Given the description of an element on the screen output the (x, y) to click on. 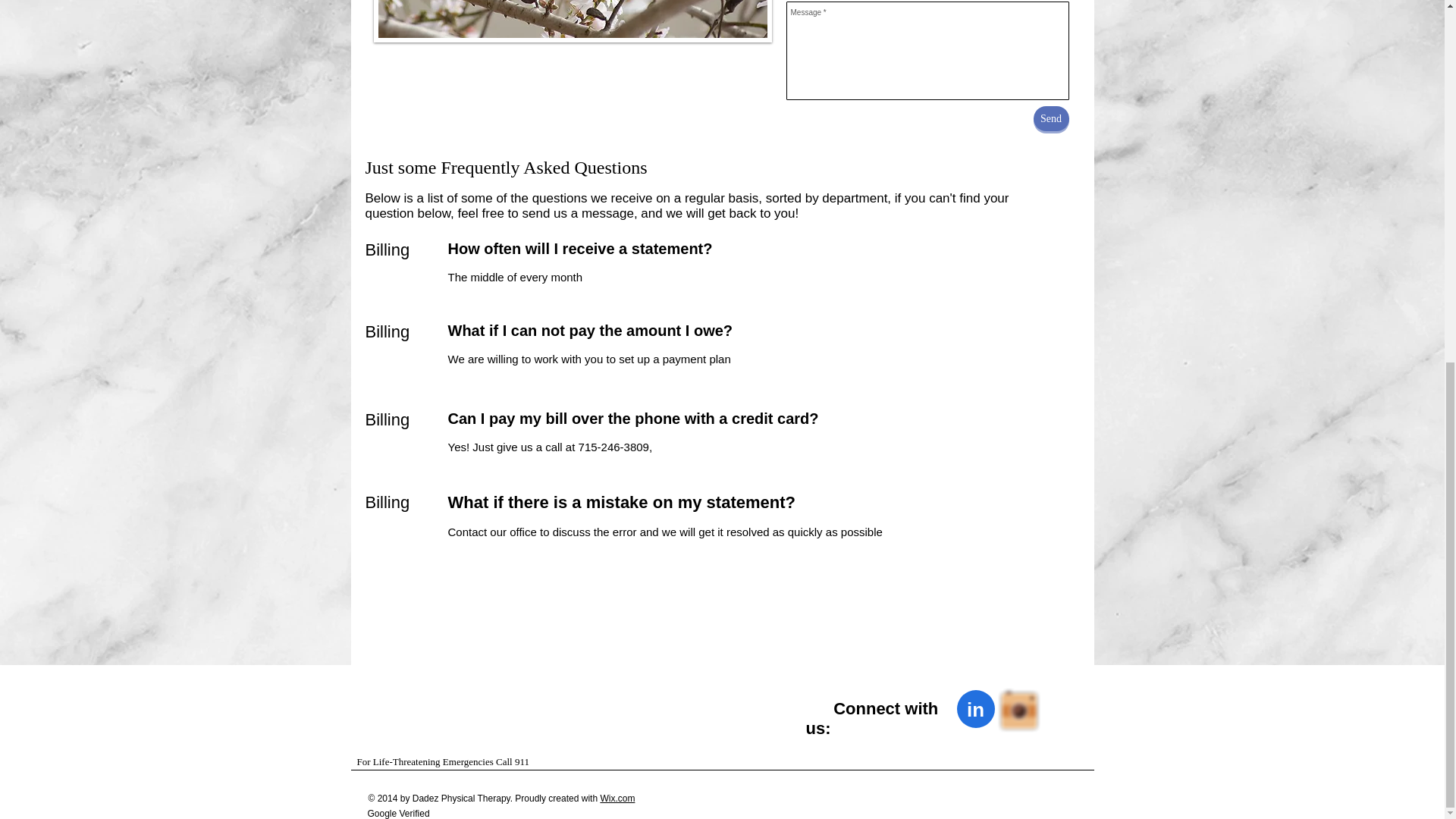
in (975, 709)
Wix.com (616, 798)
Send (1050, 118)
